Given the description of an element on the screen output the (x, y) to click on. 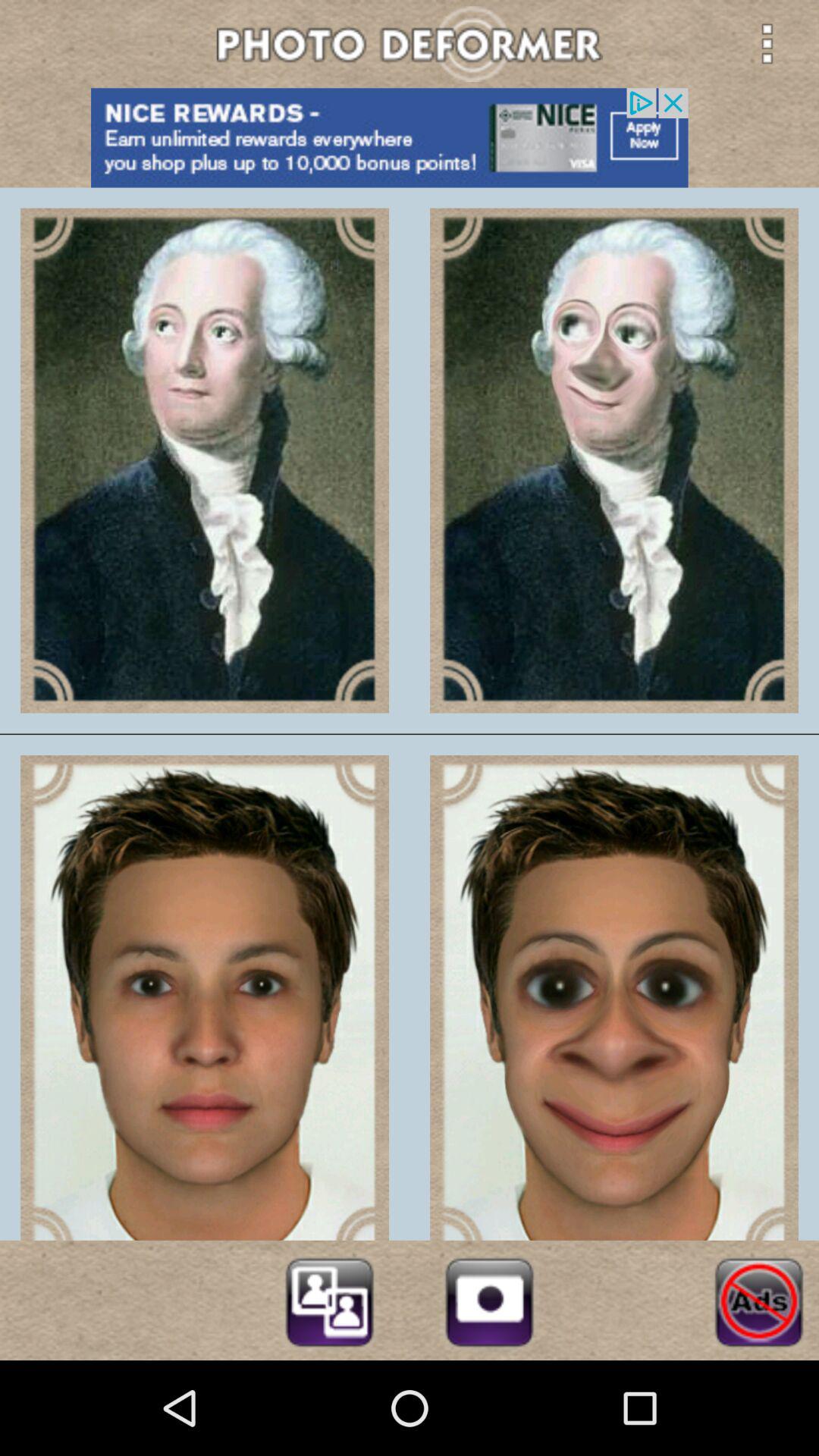
camera button (489, 1300)
